Given the description of an element on the screen output the (x, y) to click on. 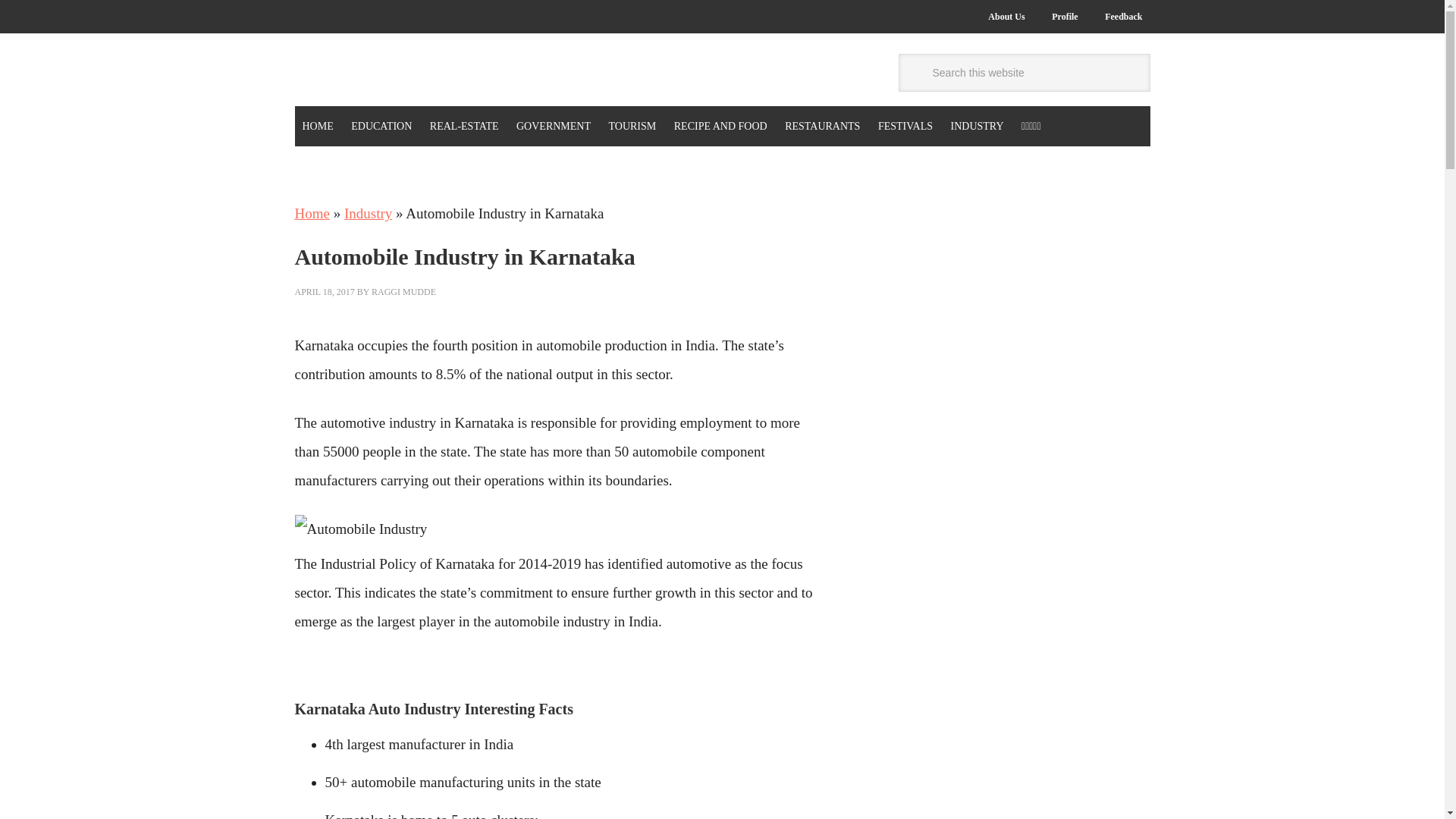
TOURISM (631, 126)
HOME (317, 126)
Profile (1064, 16)
About Us (1005, 16)
GOVERNMENT (553, 126)
RESTAURANTS (822, 126)
Home (311, 213)
KARNATAKA.COM (396, 71)
EDUCATION (381, 126)
RECIPE AND FOOD (720, 126)
Automobile industry (360, 529)
Industry (367, 213)
FESTIVALS (905, 126)
